Given the description of an element on the screen output the (x, y) to click on. 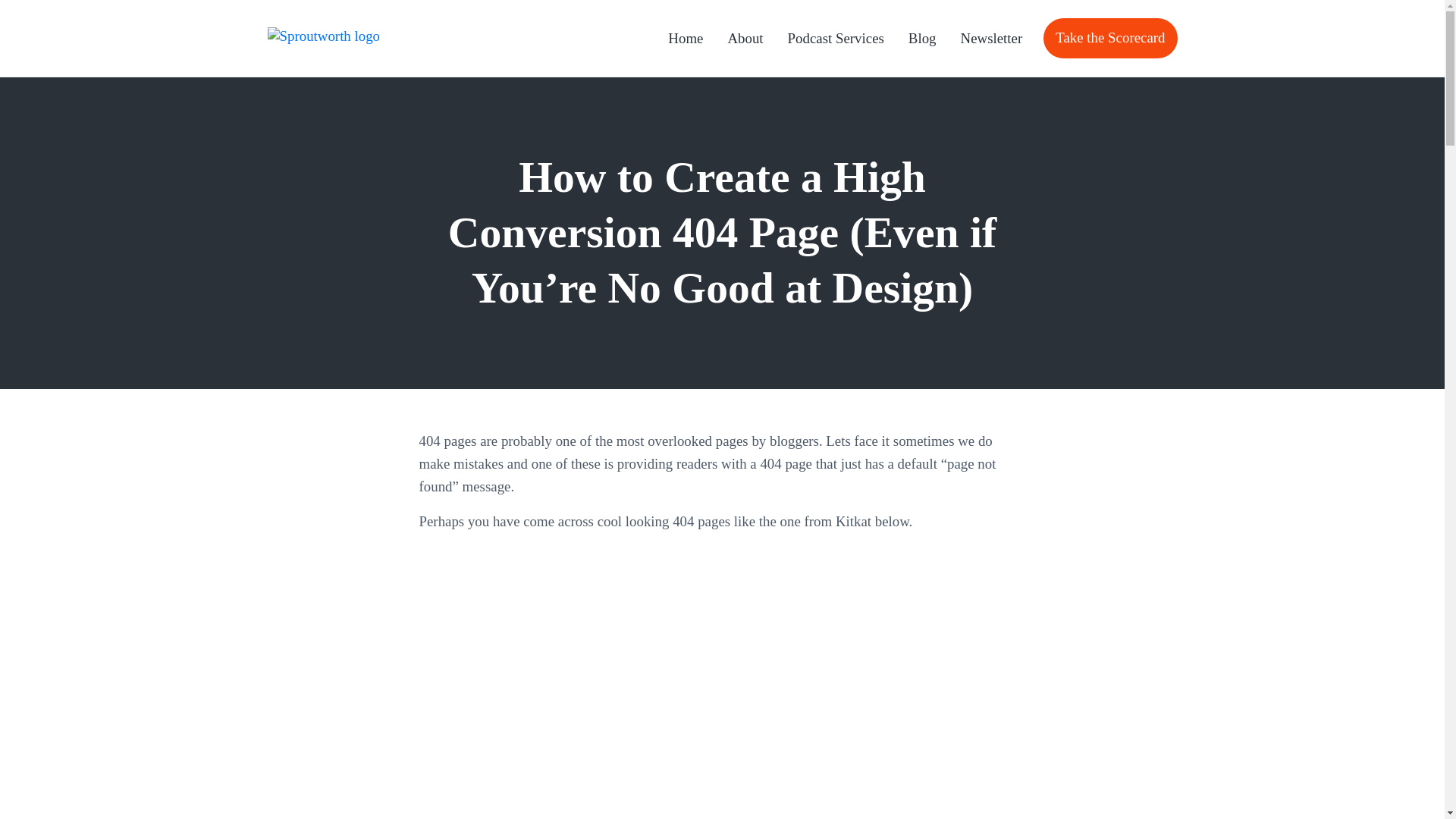
About (744, 37)
Newsletter (992, 37)
Home (685, 37)
Join the Inclined (992, 37)
Podcast Services (836, 37)
About Sproutworth (744, 37)
Take the Scorecard (1109, 38)
Blog (922, 37)
